Given the description of an element on the screen output the (x, y) to click on. 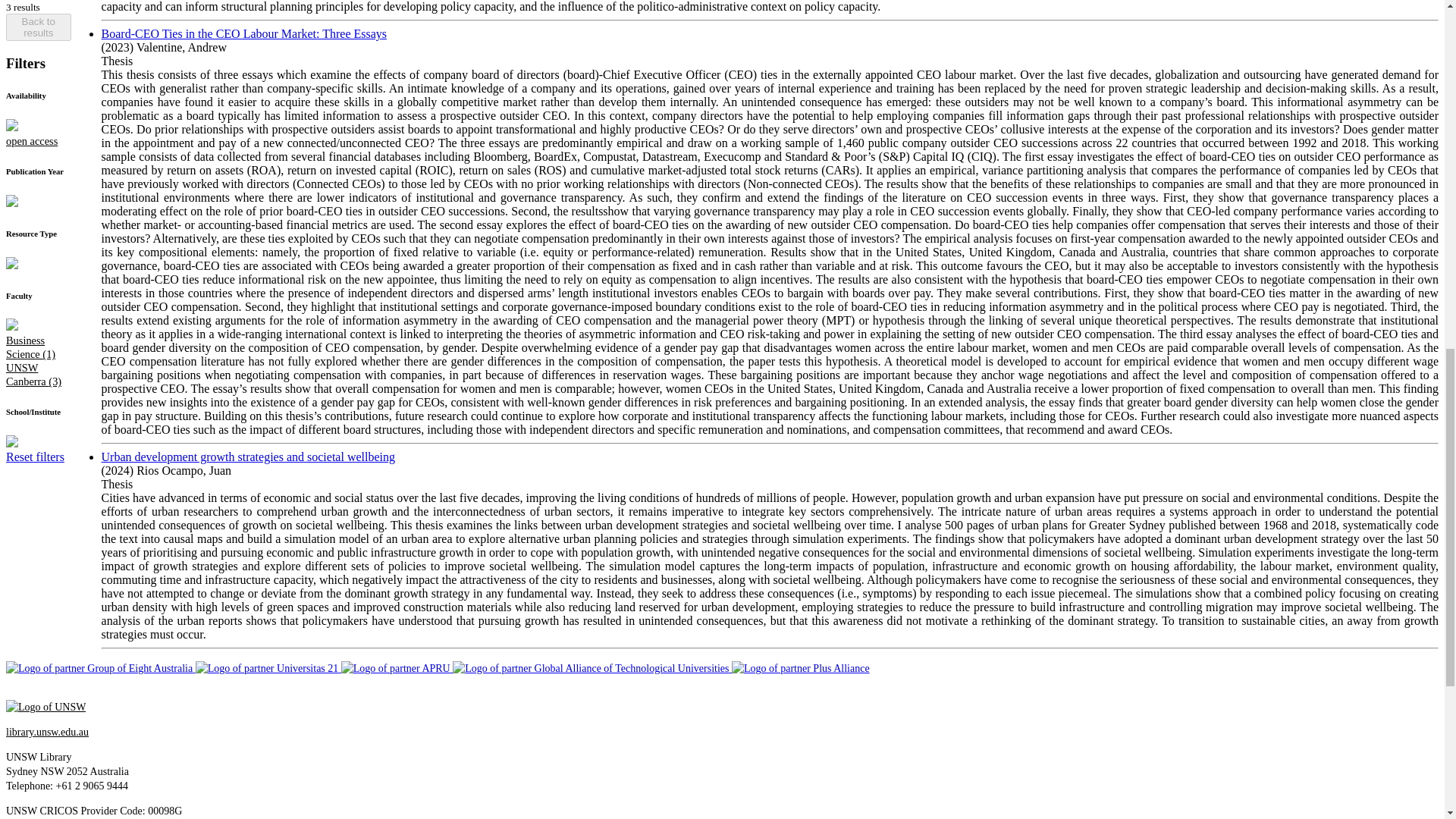
Reset filters (34, 33)
Expand filter (11, 19)
